Given the description of an element on the screen output the (x, y) to click on. 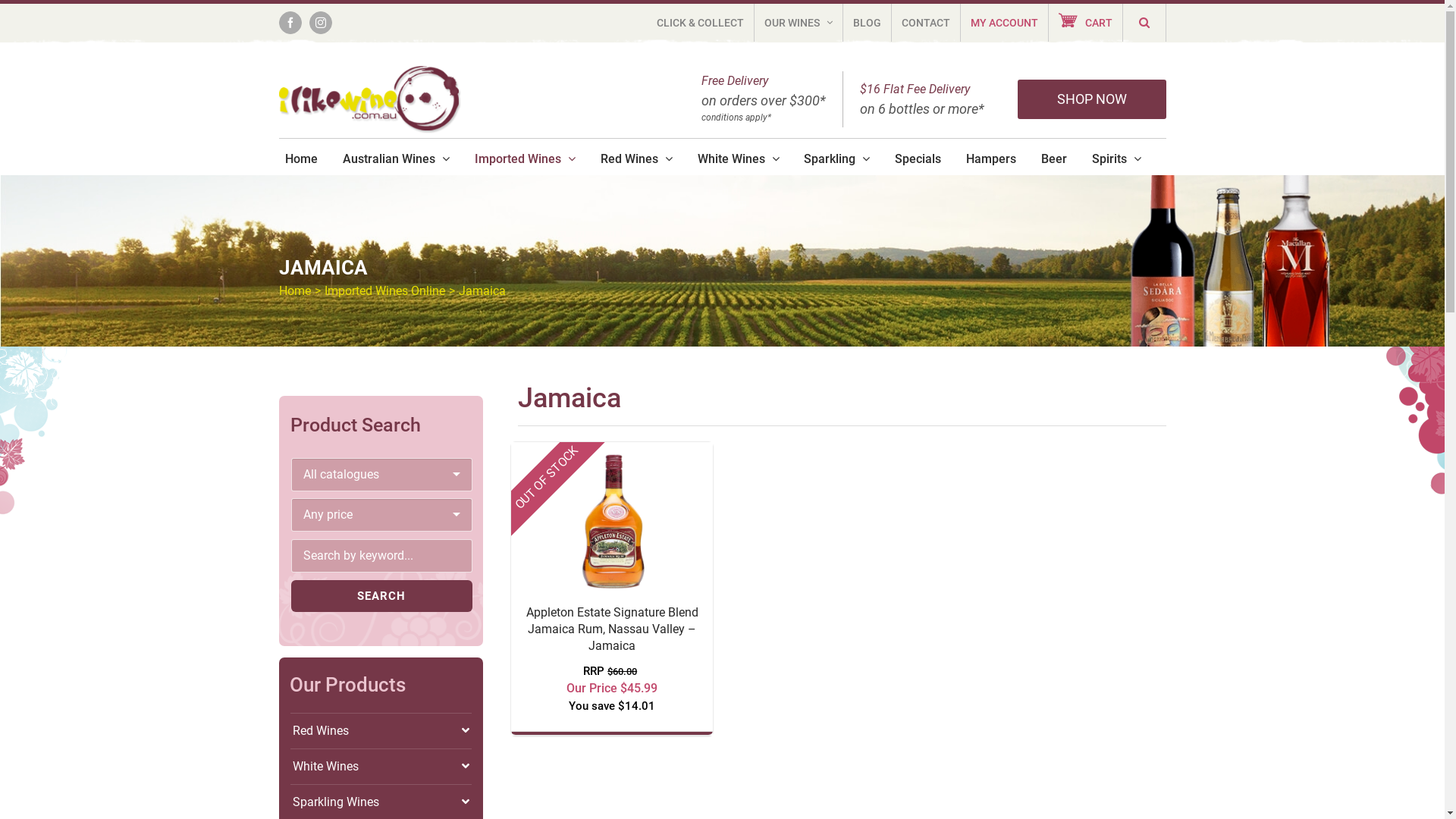
Facebook Element type: text (290, 22)
Sparkling Wines Element type: text (380, 801)
CART Element type: text (1084, 22)
Instagram Element type: text (320, 22)
Australian Wines Element type: text (395, 159)
OUR WINES Element type: text (797, 22)
MY ACCOUNT Element type: text (1003, 22)
White Wines Element type: text (738, 159)
$16 Flat Fee Delivery
on 6 bottles or more* Element type: text (921, 99)
Red Wines Element type: text (380, 730)
Beer Element type: text (1053, 159)
Sparkling Element type: text (836, 159)
BLOG Element type: text (867, 22)
Hampers Element type: text (991, 159)
Home Element type: text (294, 290)
Free Delivery
on orders over $300*
conditions apply* Element type: text (762, 99)
Specials Element type: text (917, 159)
Red Wines Element type: text (636, 159)
Search Element type: text (381, 595)
Log In Element type: text (1064, 159)
Imported Wines Online Element type: text (384, 290)
White Wines Element type: text (380, 766)
Home Element type: text (301, 159)
SHOP NOW Element type: text (1091, 99)
Spirits Element type: text (1116, 159)
CLICK & COLLECT Element type: text (699, 22)
Imported Wines Element type: text (524, 159)
CONTACT Element type: text (925, 22)
